Given the description of an element on the screen output the (x, y) to click on. 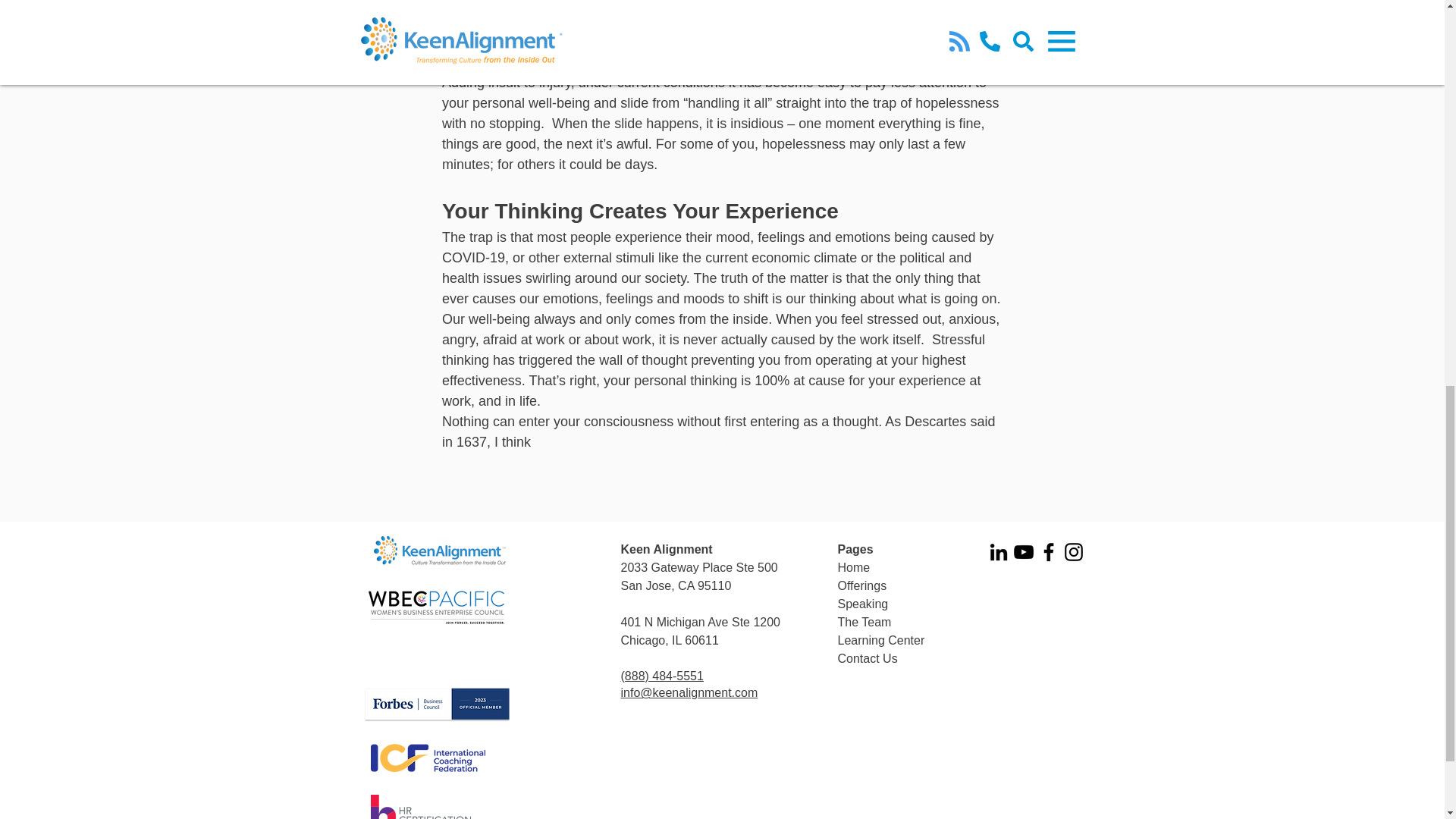
The Team (864, 621)
FBC-Signature.png (437, 704)
Speaking (862, 603)
Offerings (861, 585)
Contact Us (866, 658)
Learning Center (880, 640)
Home (853, 567)
